Given the description of an element on the screen output the (x, y) to click on. 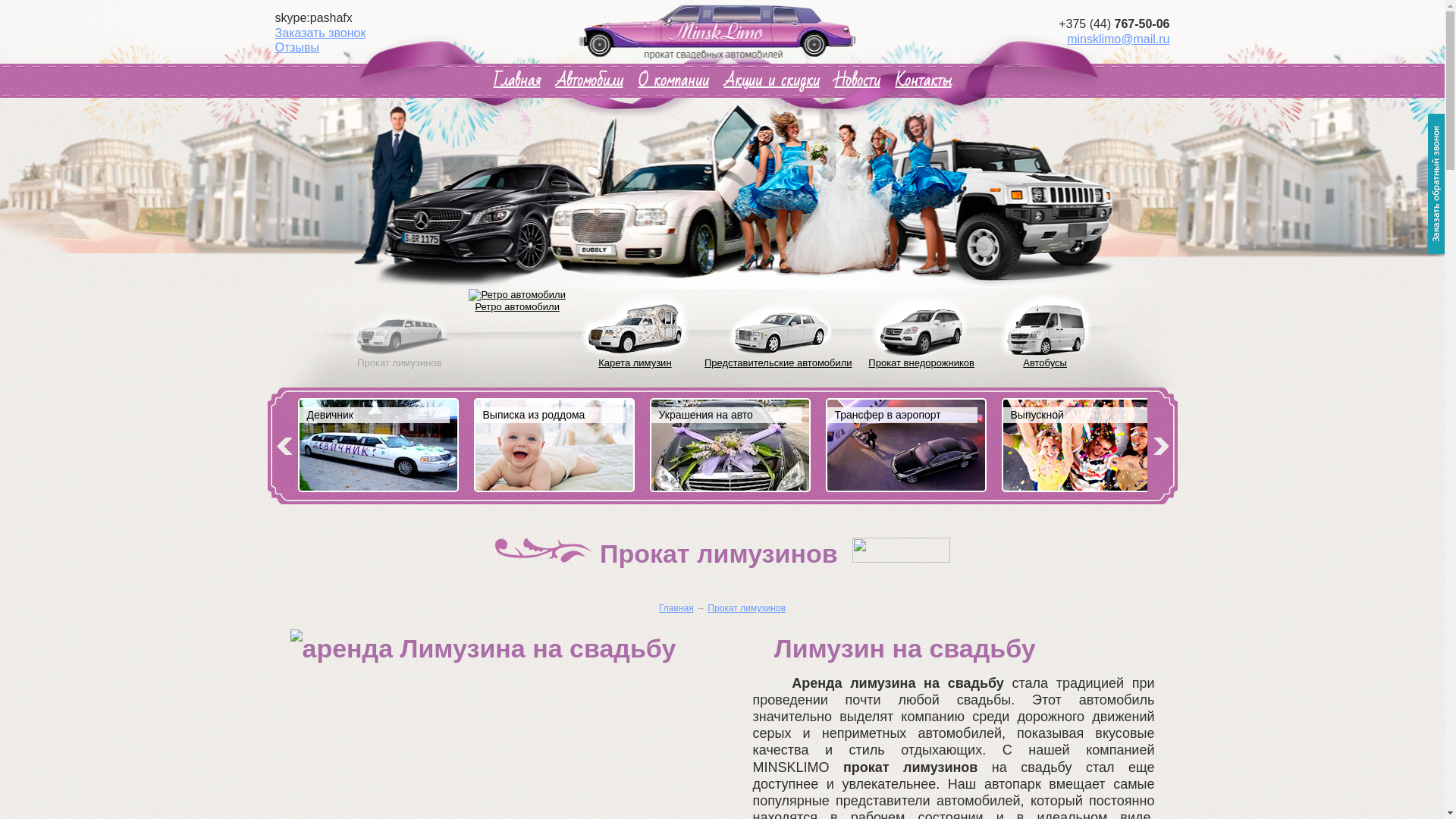
#slide_55 Element type: hover (553, 446)
#slide_60 Element type: hover (377, 446)
#slide_57 Element type: hover (905, 446)
minsklimo@mail.ru Element type: text (1117, 38)
#slide_56 Element type: hover (729, 451)
#slide_58 Element type: hover (1081, 446)
